Given the description of an element on the screen output the (x, y) to click on. 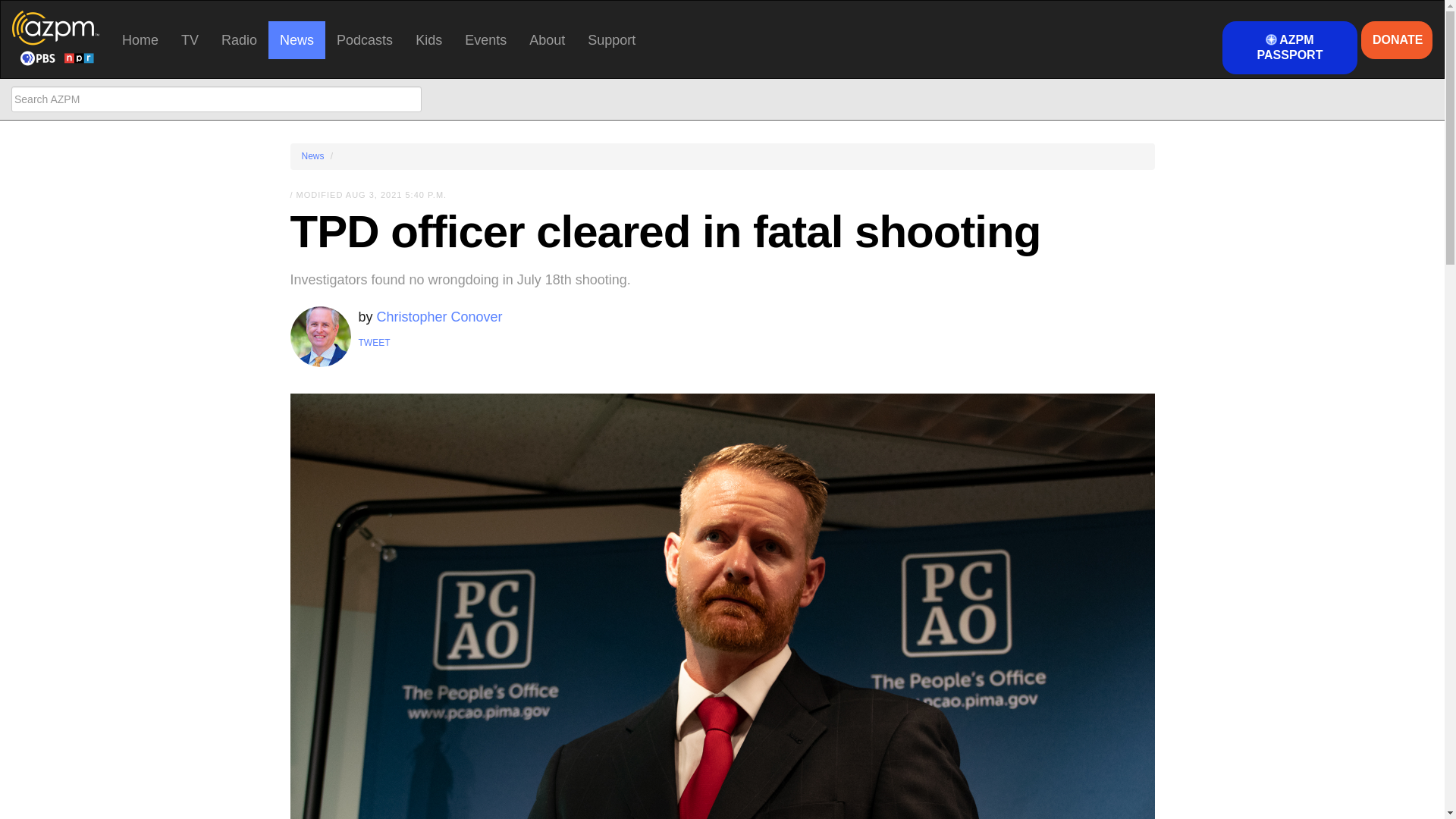
News (295, 39)
Events (485, 39)
Podcasts (364, 39)
Radio (238, 39)
Kids (428, 39)
TV (189, 39)
About (547, 39)
Home (140, 39)
